Given the description of an element on the screen output the (x, y) to click on. 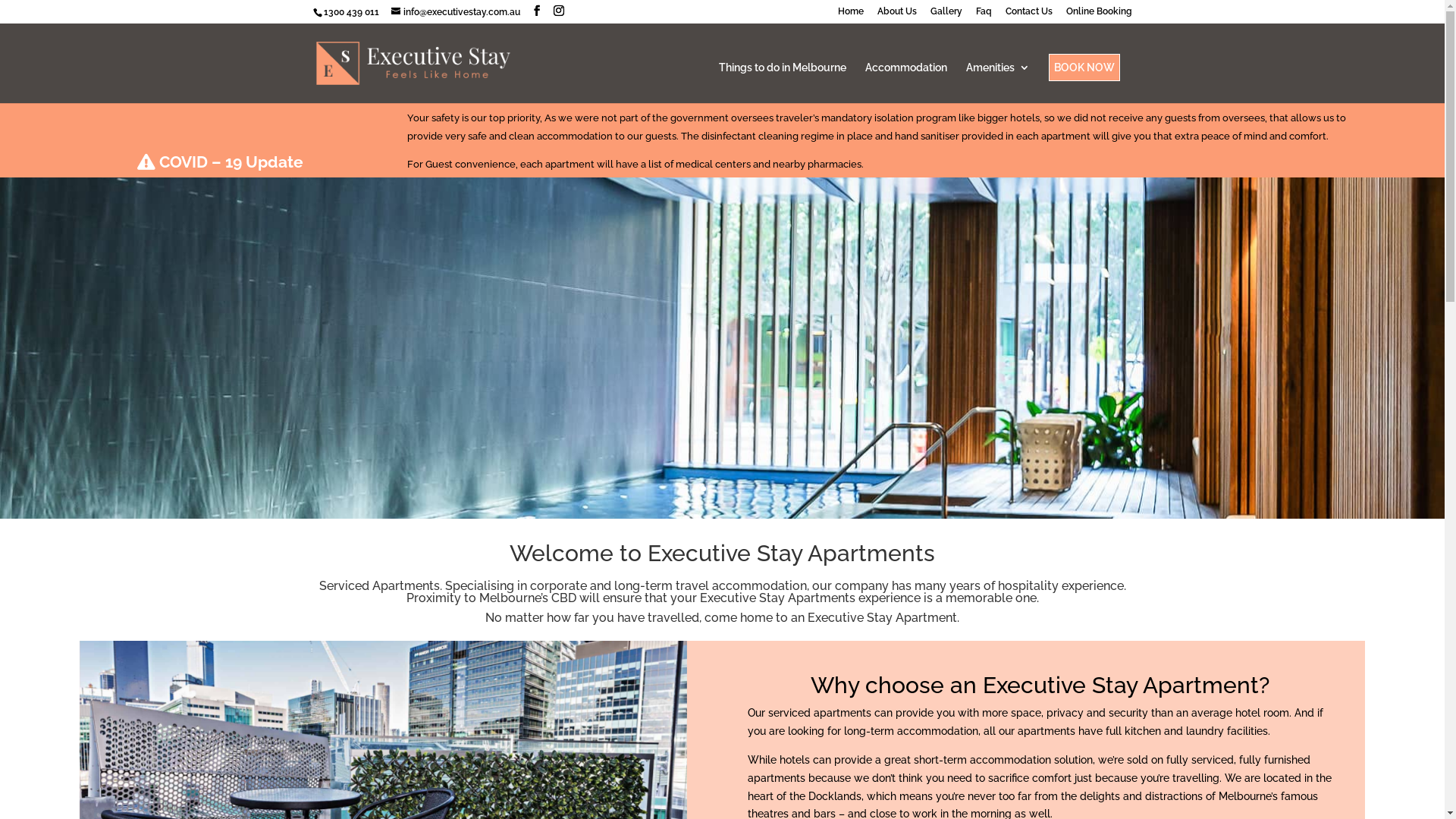
1 Element type: text (703, 488)
3 Element type: text (728, 488)
Accommodation Element type: text (905, 82)
Online Booking Element type: text (1099, 14)
4 Element type: text (740, 488)
Home Element type: text (849, 14)
info@executivestay.com.au Element type: text (455, 11)
Faq Element type: text (983, 14)
Things to do in Melbourne Element type: text (782, 82)
Amenities Element type: text (997, 82)
About Us Element type: text (896, 14)
Contact Us Element type: text (1028, 14)
2 Element type: text (715, 488)
Gallery Element type: text (945, 14)
BOOK NOW Element type: text (1083, 67)
